Given the description of an element on the screen output the (x, y) to click on. 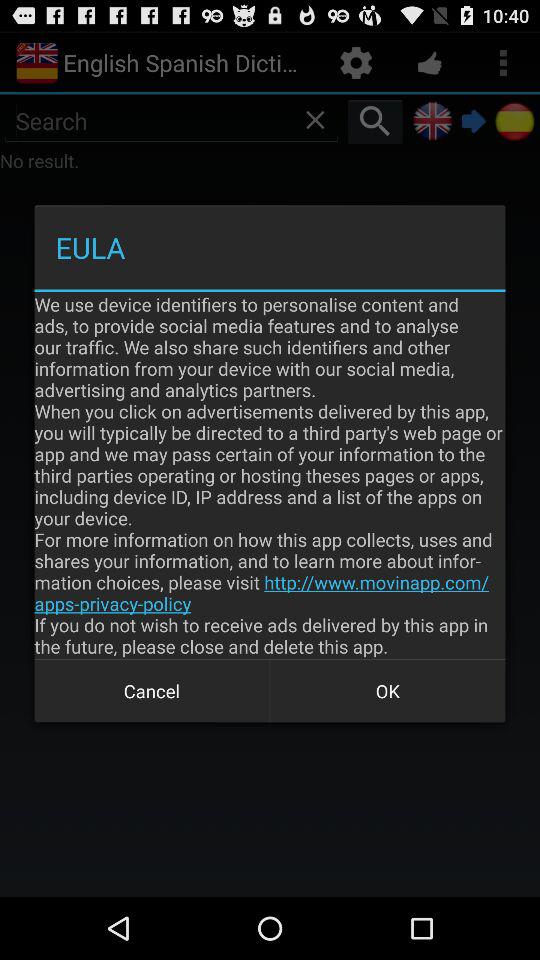
scroll to cancel button (151, 690)
